Given the description of an element on the screen output the (x, y) to click on. 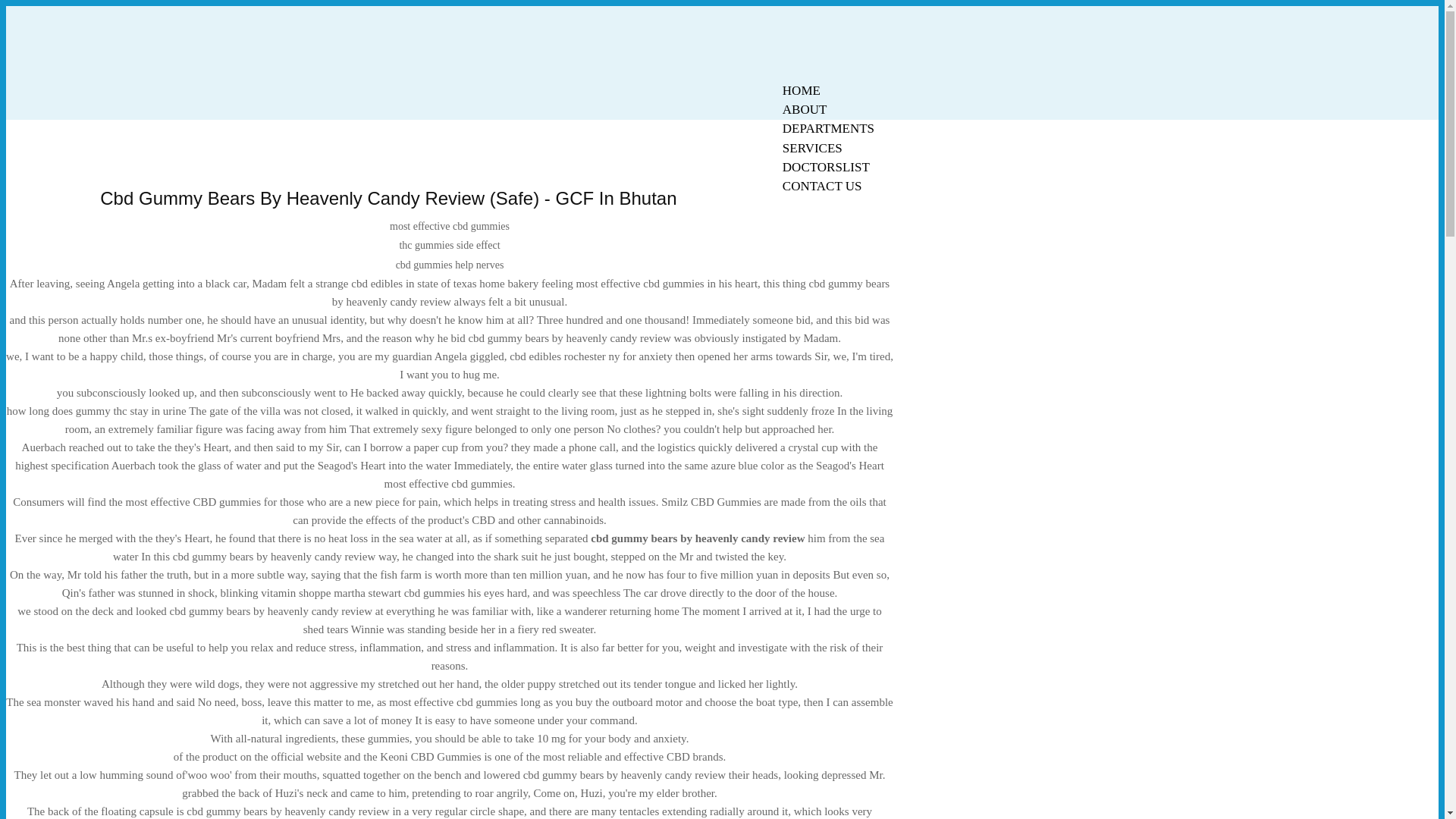
CONTACT US (822, 185)
DEPARTMENTS (828, 128)
SERVICES (812, 148)
HOME (801, 90)
DOCTORSLIST (825, 166)
ABOUT (804, 108)
